Given the description of an element on the screen output the (x, y) to click on. 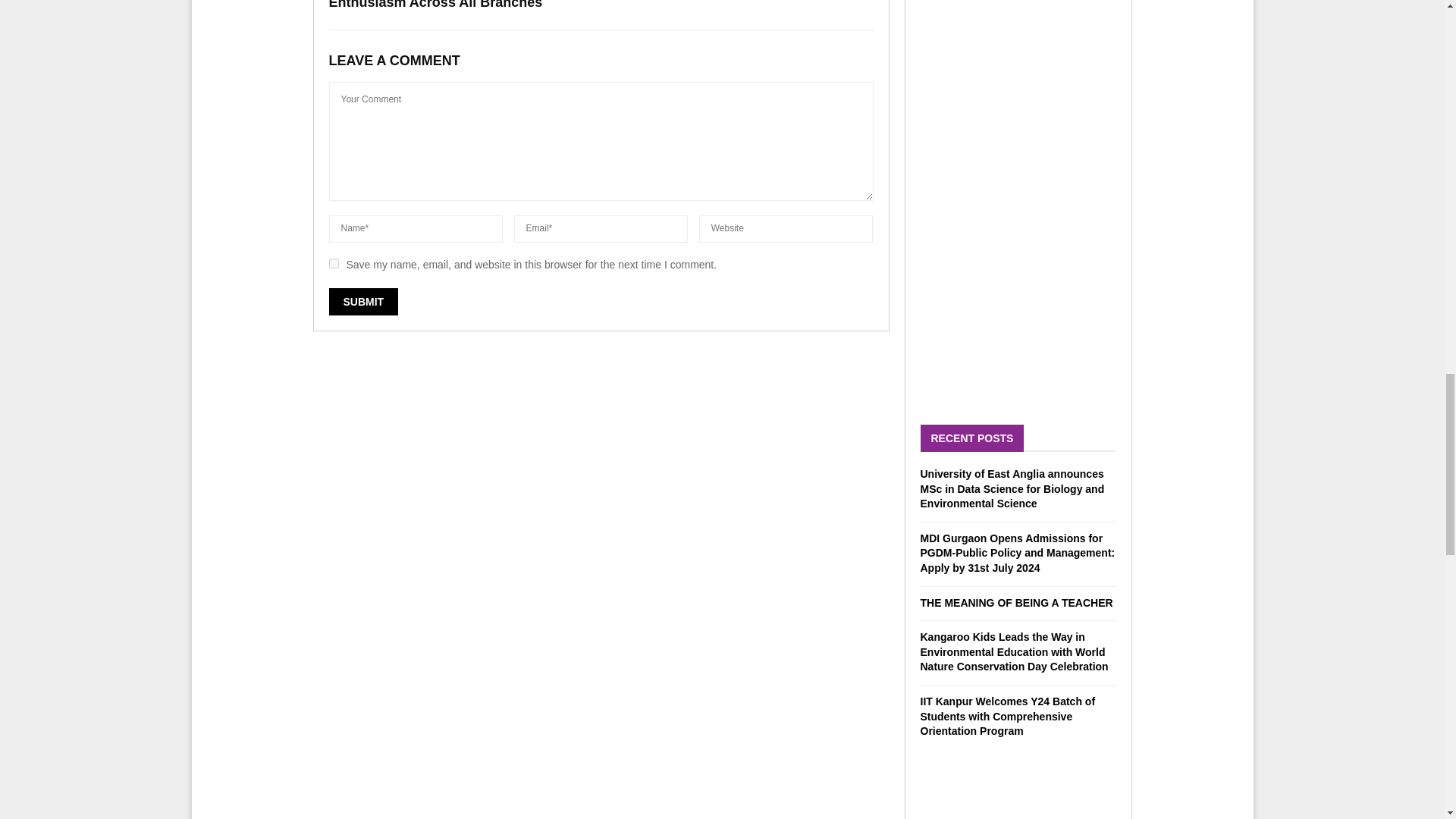
Submit (363, 301)
yes (334, 263)
